Given the description of an element on the screen output the (x, y) to click on. 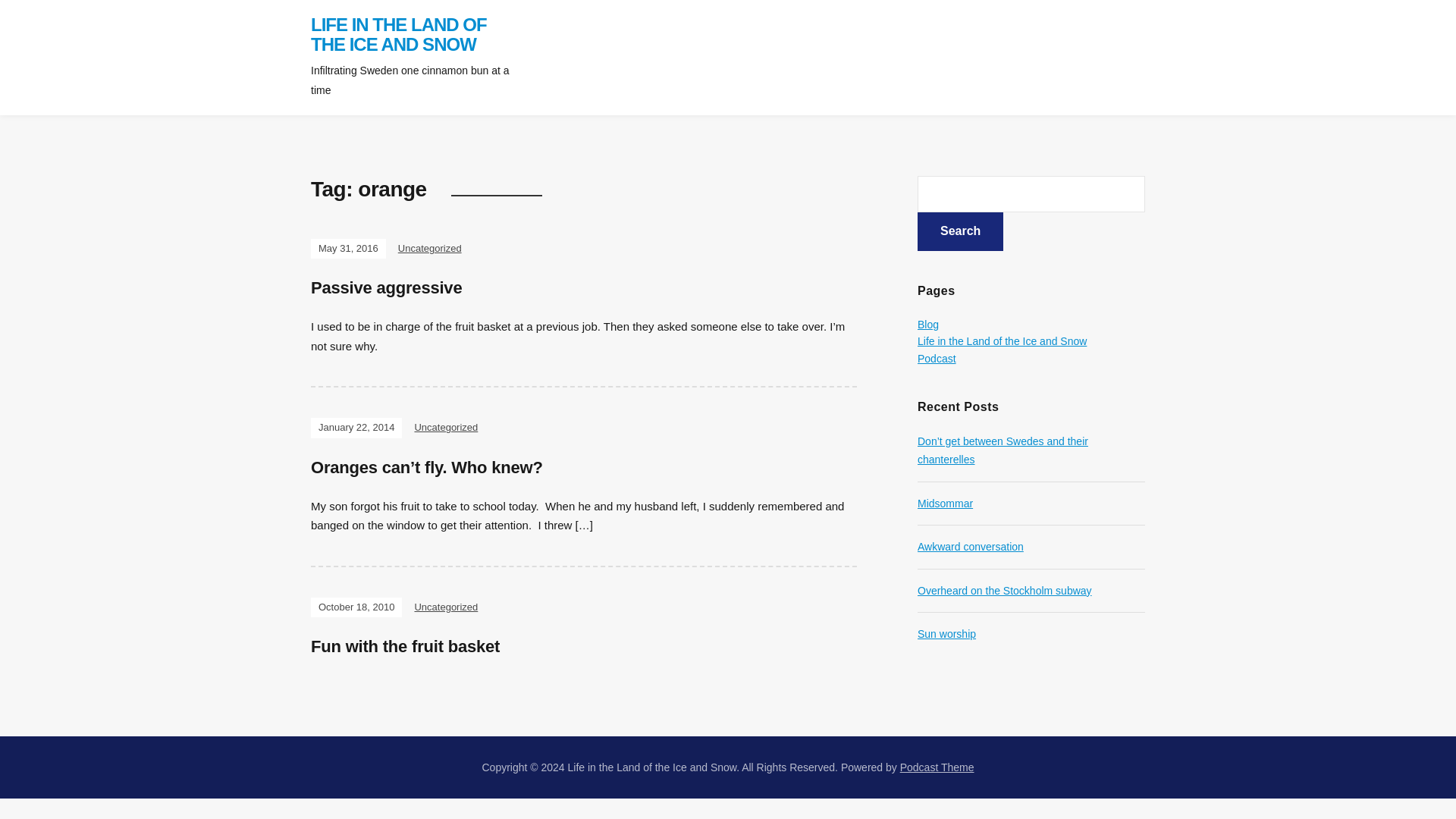
LIFE IN THE LAND OF THE ICE AND SNOW (398, 34)
Podcast (936, 358)
Passive aggressive (386, 287)
Search (960, 231)
Podcast Theme (936, 767)
Life in the Land of the Ice and Snow (1001, 340)
Midsommar (944, 503)
Sun worship (946, 633)
Search (960, 231)
Blog (928, 324)
